Given the description of an element on the screen output the (x, y) to click on. 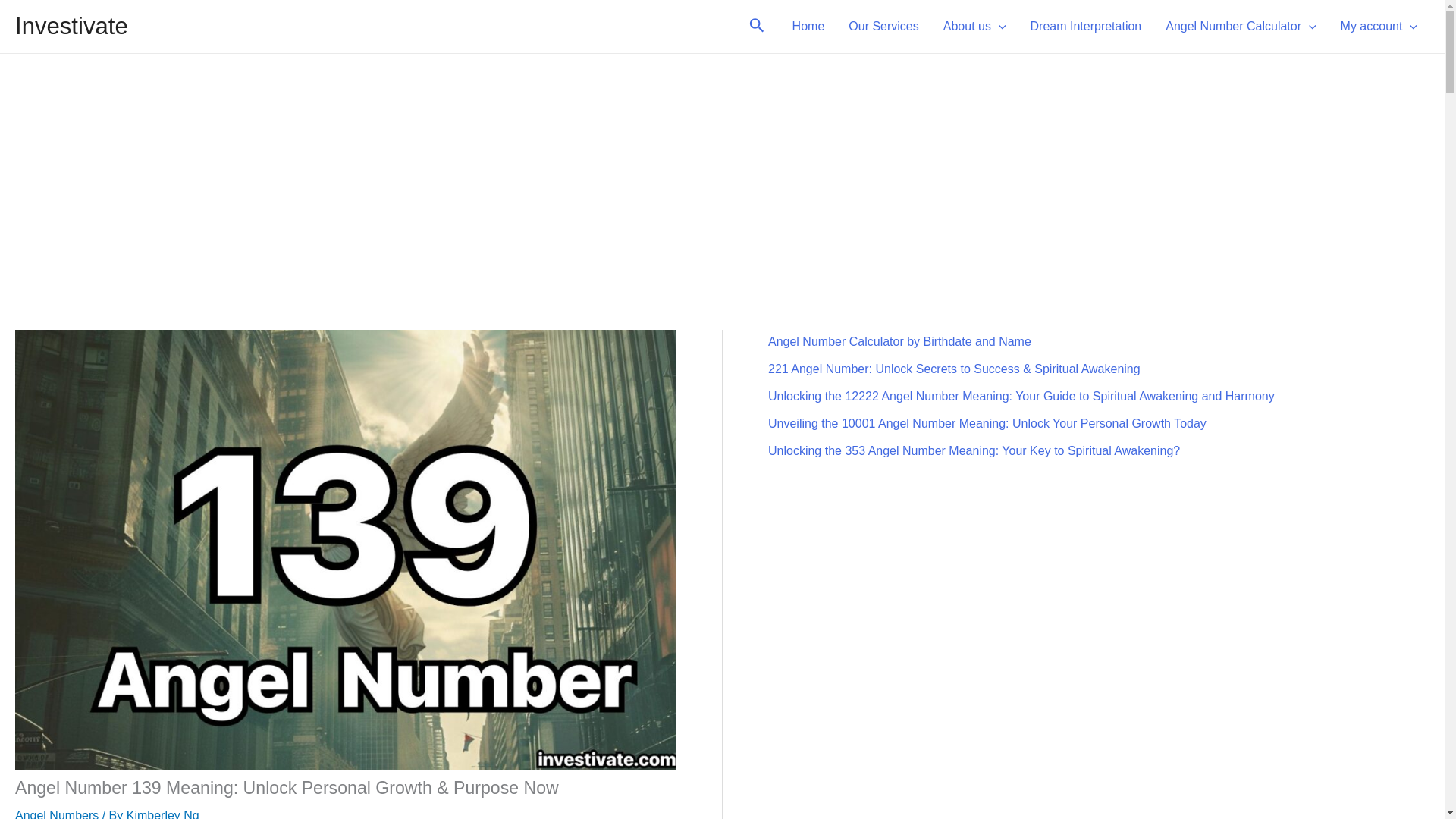
Angel Numbers (56, 814)
Kimberley Ng (162, 814)
Dream Interpretation (1085, 26)
Investivate (71, 26)
Our Services (882, 26)
Home (808, 26)
Angel Number Calculator (1240, 26)
About us (974, 26)
My account (1378, 26)
View all posts by Kimberley Ng (162, 814)
